Given the description of an element on the screen output the (x, y) to click on. 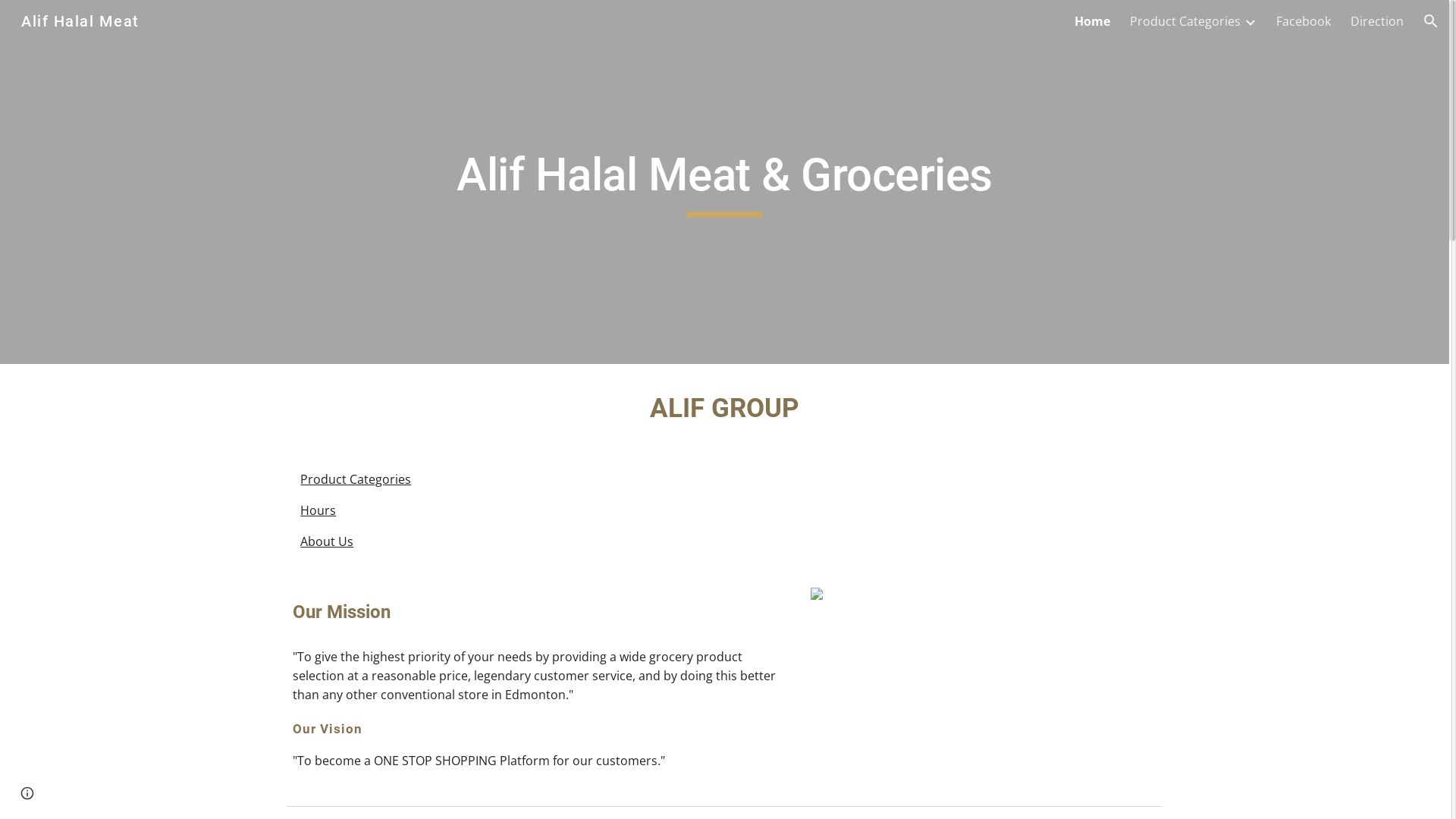
Facebook Element type: text (1303, 20)
Hours Element type: text (317, 510)
Direction Element type: text (1376, 20)
Expand/Collapse Element type: hover (1249, 20)
Product Categories Element type: text (1184, 20)
Product Categories Element type: text (355, 478)
Home Element type: text (1092, 20)
Alif Halal Meat Element type: text (80, 19)
About Us Element type: text (326, 541)
